Given the description of an element on the screen output the (x, y) to click on. 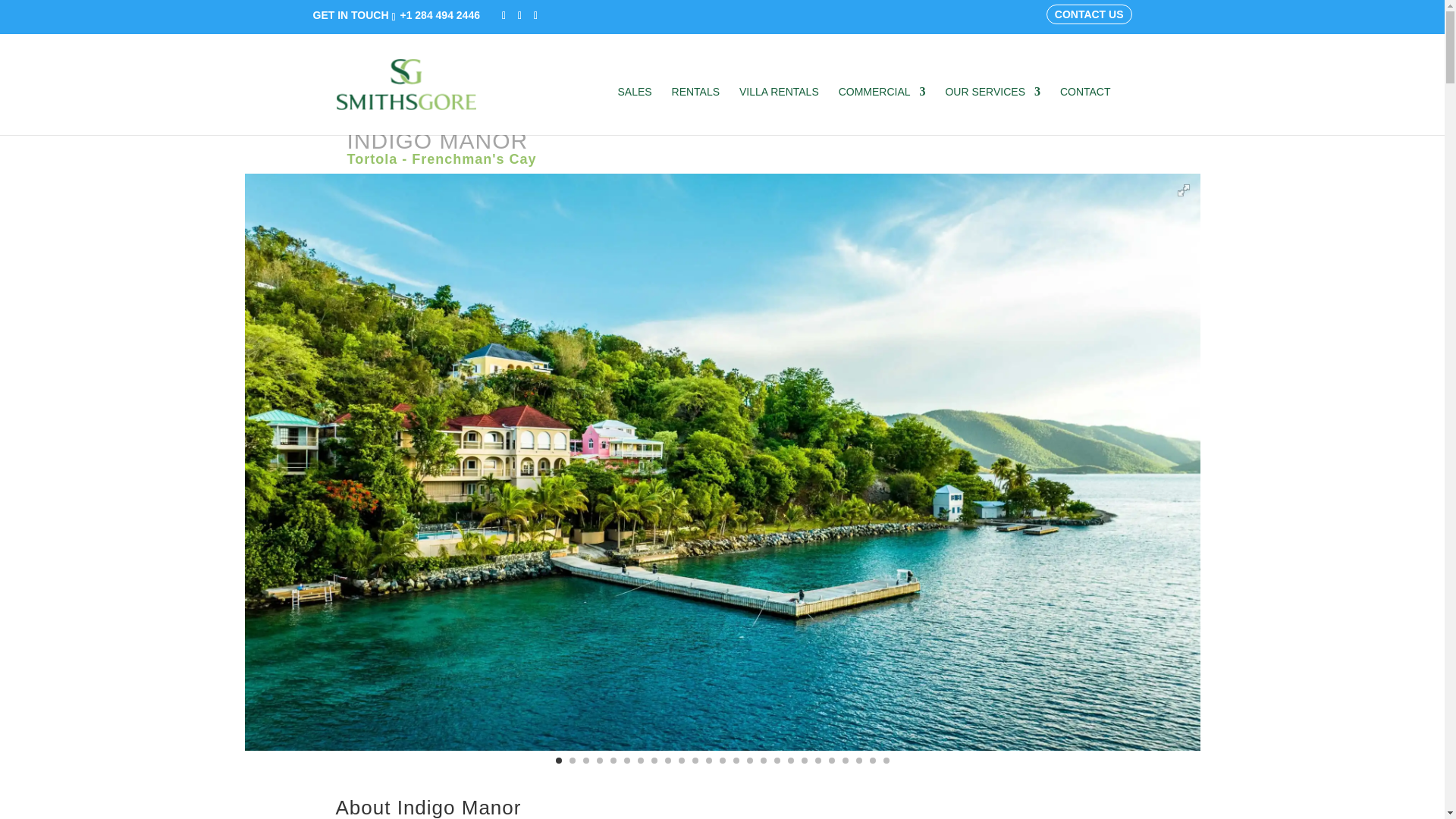
RENTALS (695, 104)
CONTACT (1084, 104)
COMMERCIAL (882, 104)
SALES (633, 104)
CONTACT US (1089, 14)
VILLA RENTALS (778, 104)
OUR SERVICES (992, 104)
